Given the description of an element on the screen output the (x, y) to click on. 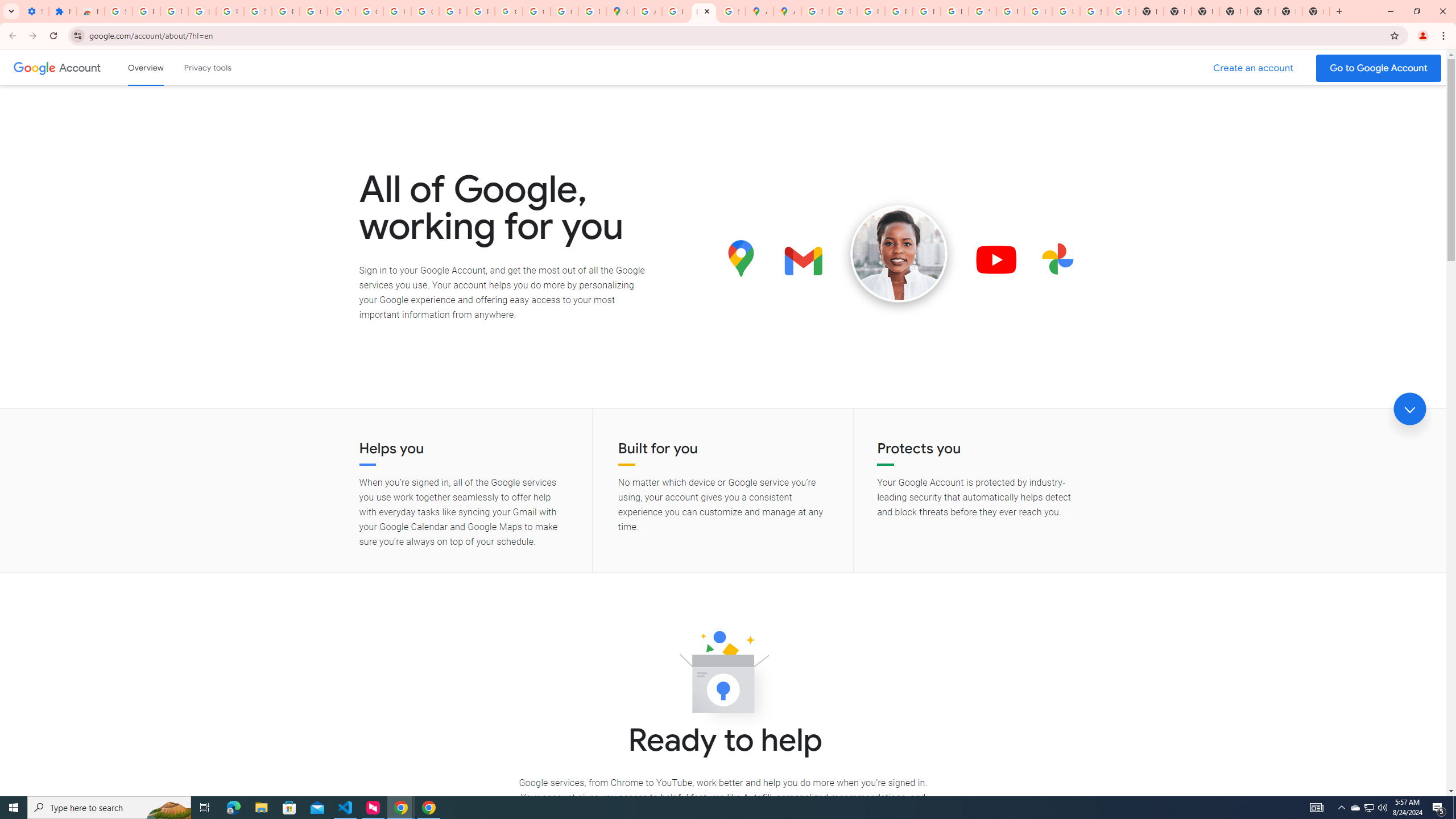
Google logo (34, 67)
Settings - On startup (34, 11)
New Tab (1233, 11)
YouTube (982, 11)
Delete photos & videos - Computer - Google Photos Help (174, 11)
